Given the description of an element on the screen output the (x, y) to click on. 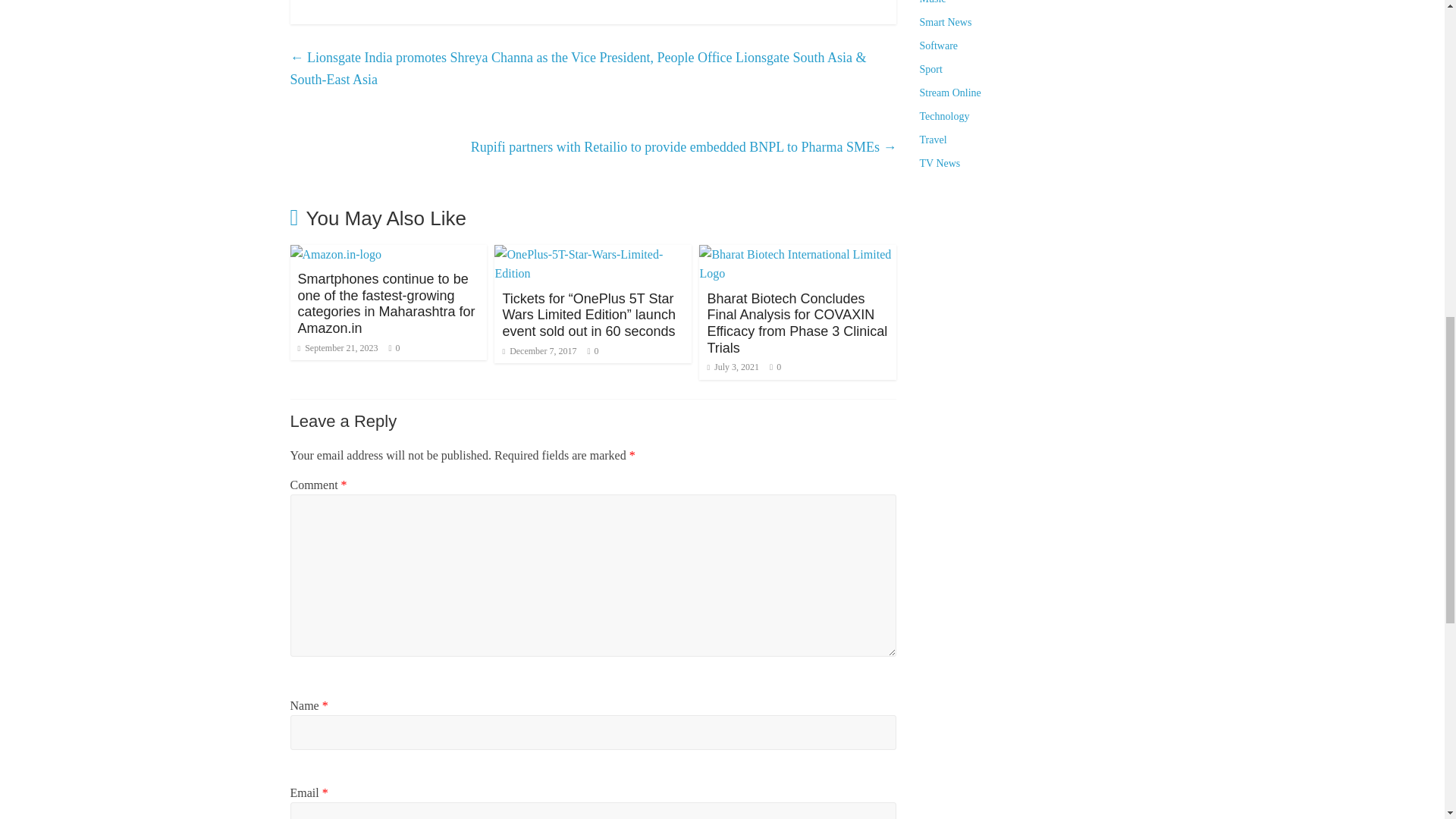
September 21, 2023 (337, 347)
11:56 am (337, 347)
July 3, 2021 (732, 366)
12:44 pm (539, 350)
December 7, 2017 (539, 350)
